Given the description of an element on the screen output the (x, y) to click on. 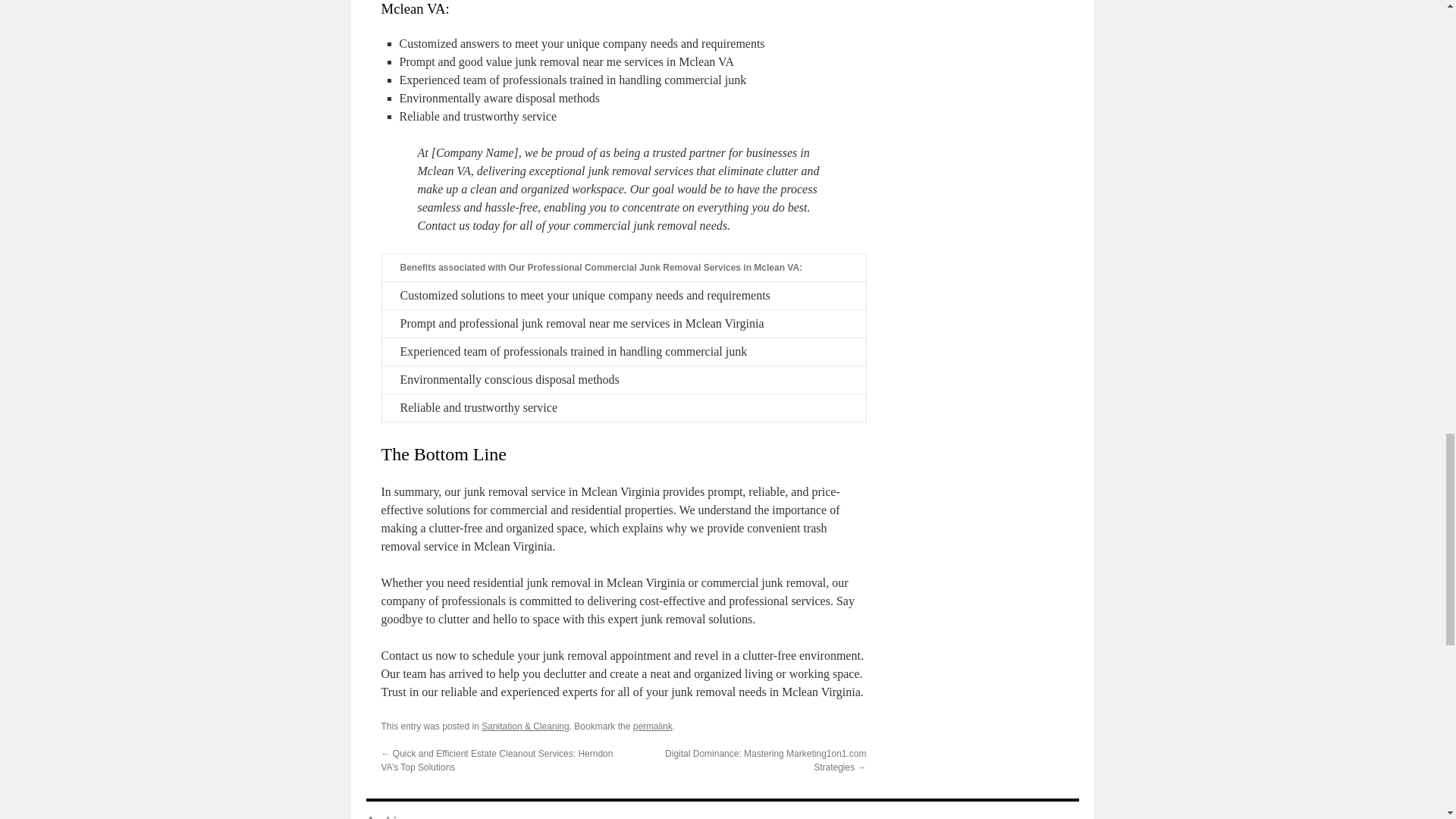
permalink (652, 726)
Permalink to The Ultimate Mclean VA Junk Disposal Guide (652, 726)
